Given the description of an element on the screen output the (x, y) to click on. 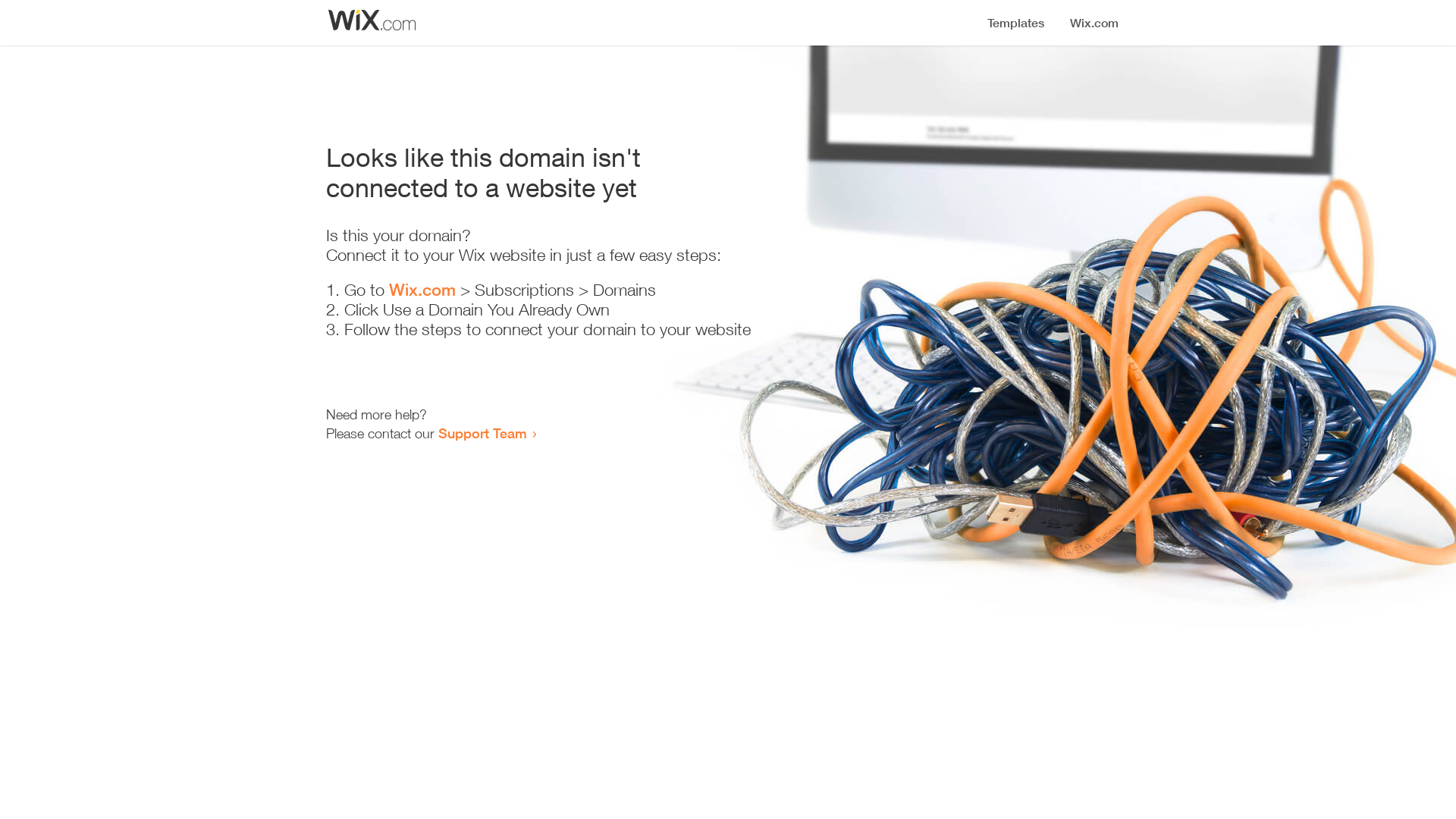
Support Team Element type: text (482, 432)
Wix.com Element type: text (422, 289)
